Given the description of an element on the screen output the (x, y) to click on. 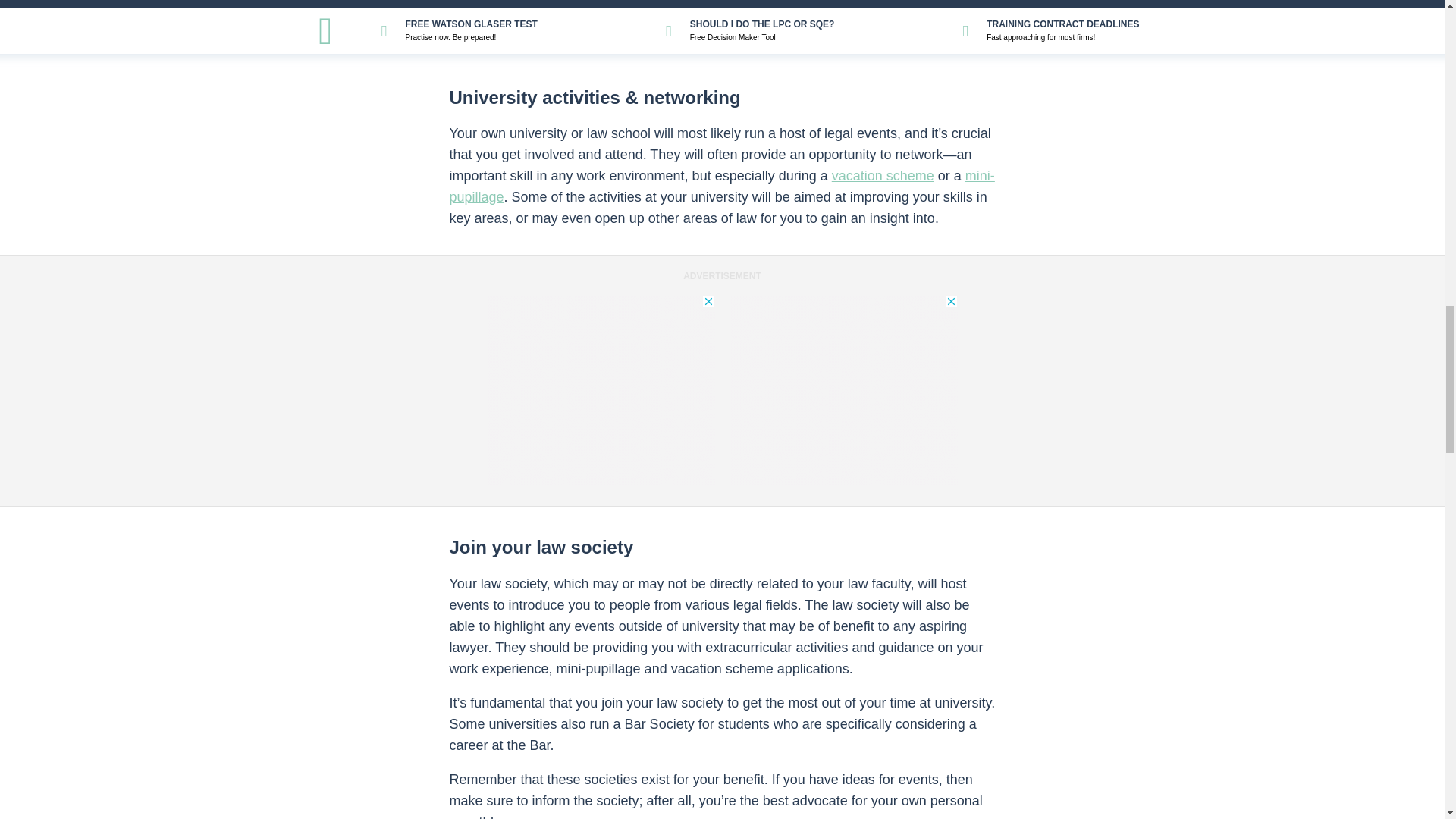
3rd party ad content (600, 389)
3rd party ad content (842, 389)
